Given the description of an element on the screen output the (x, y) to click on. 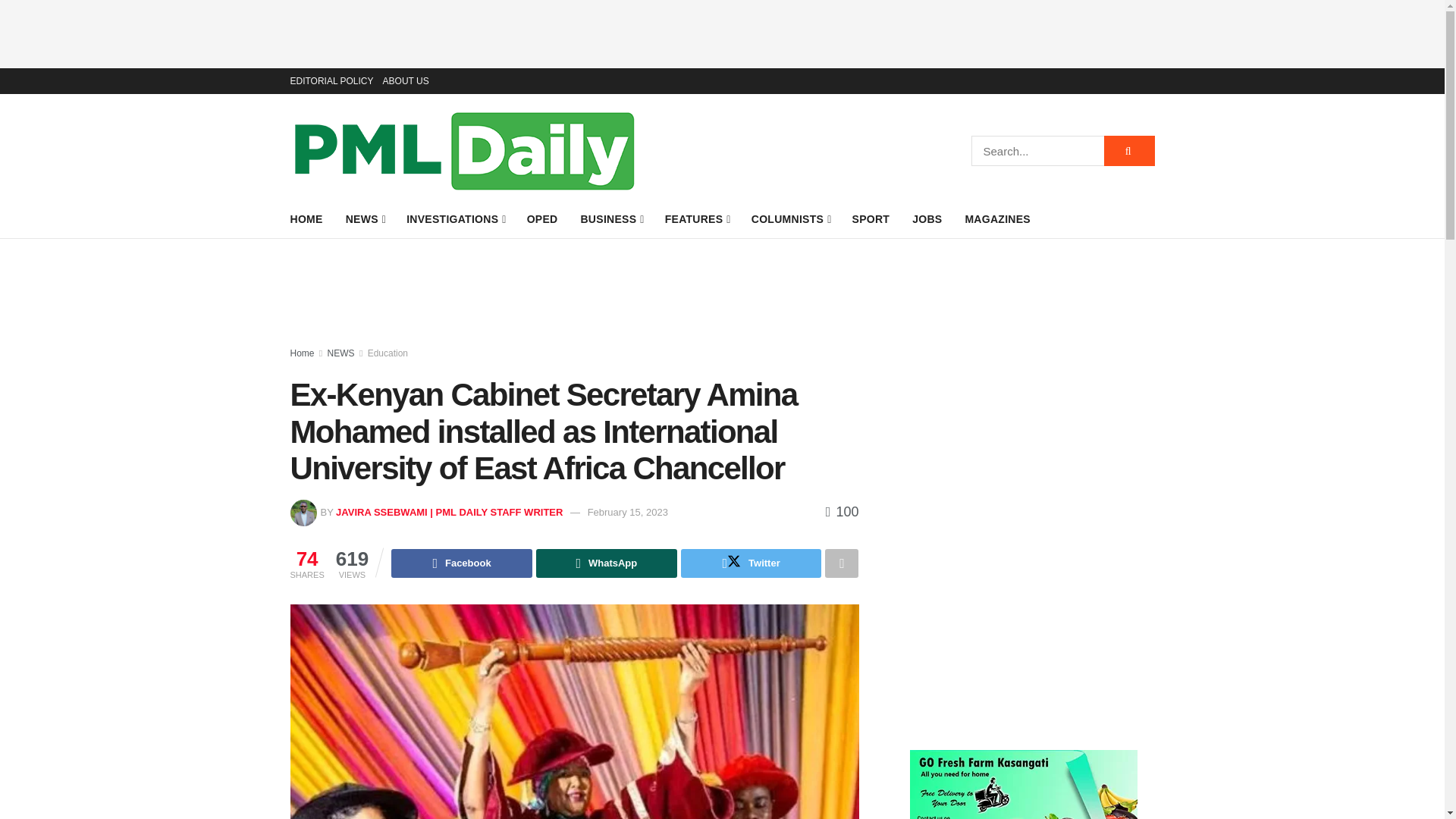
EDITORIAL POLICY (330, 80)
JOBS (927, 219)
NEWS (365, 219)
SPORT (870, 219)
COLUMNISTS (790, 219)
FEATURES (697, 219)
OPED (542, 219)
INVESTIGATIONS (454, 219)
ABOUT US (405, 80)
MAGAZINES (996, 219)
